Given the description of an element on the screen output the (x, y) to click on. 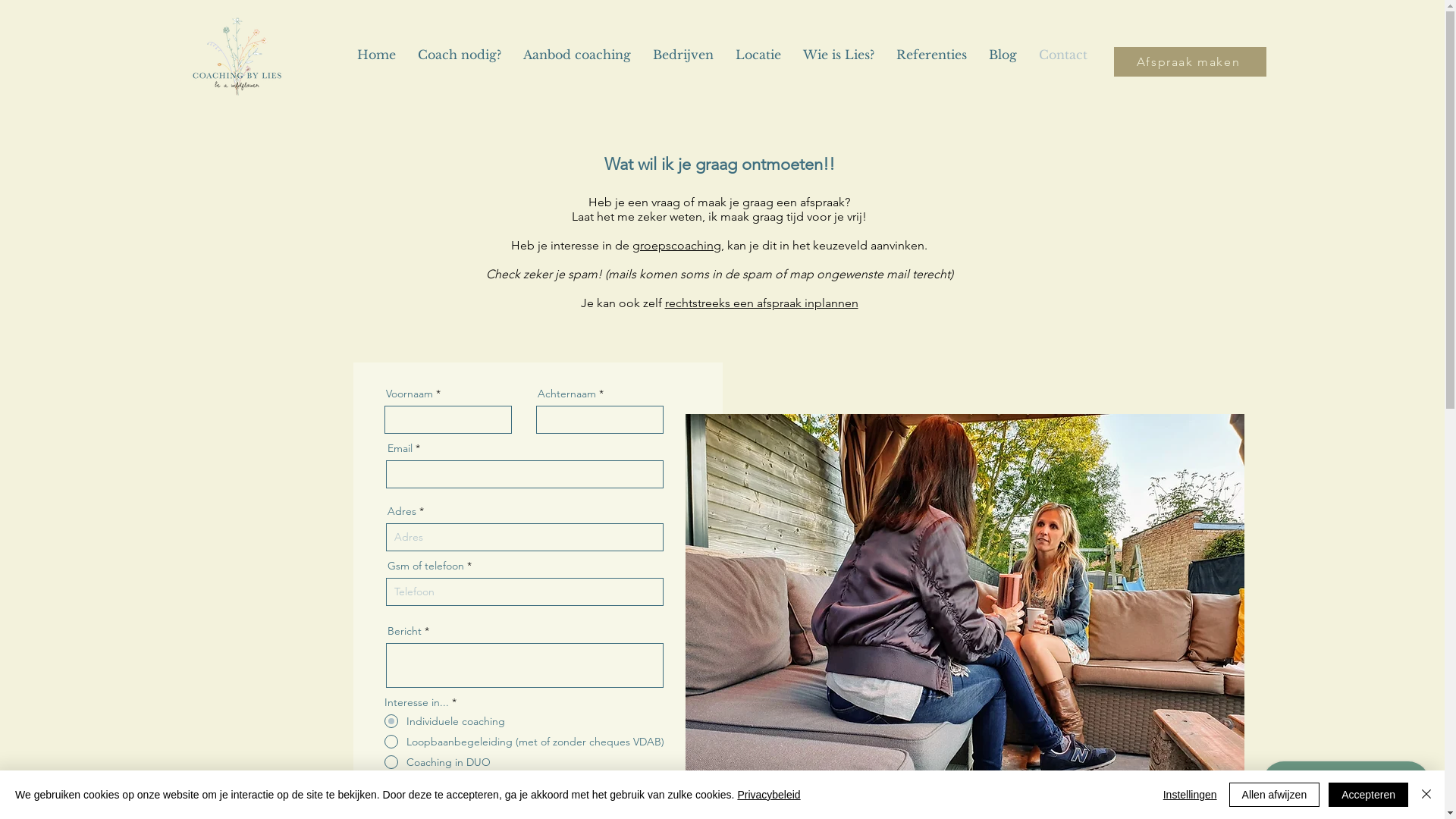
groepscoaching Element type: text (676, 245)
Privacybeleid Element type: text (768, 794)
Allen afwijzen Element type: text (1274, 794)
Aanbod coaching Element type: text (577, 54)
Bedrijven Element type: text (682, 54)
Afspraak maken Element type: text (1189, 61)
Blog Element type: text (1003, 54)
Coach nodig? Element type: text (458, 54)
Accepteren Element type: text (1368, 794)
Referenties Element type: text (931, 54)
rechtstreeks een afspraak inplannen Element type: text (760, 302)
Wie is Lies? Element type: text (837, 54)
Locatie Element type: text (758, 54)
Contact Element type: text (1063, 54)
Home Element type: text (375, 54)
